Given the description of an element on the screen output the (x, y) to click on. 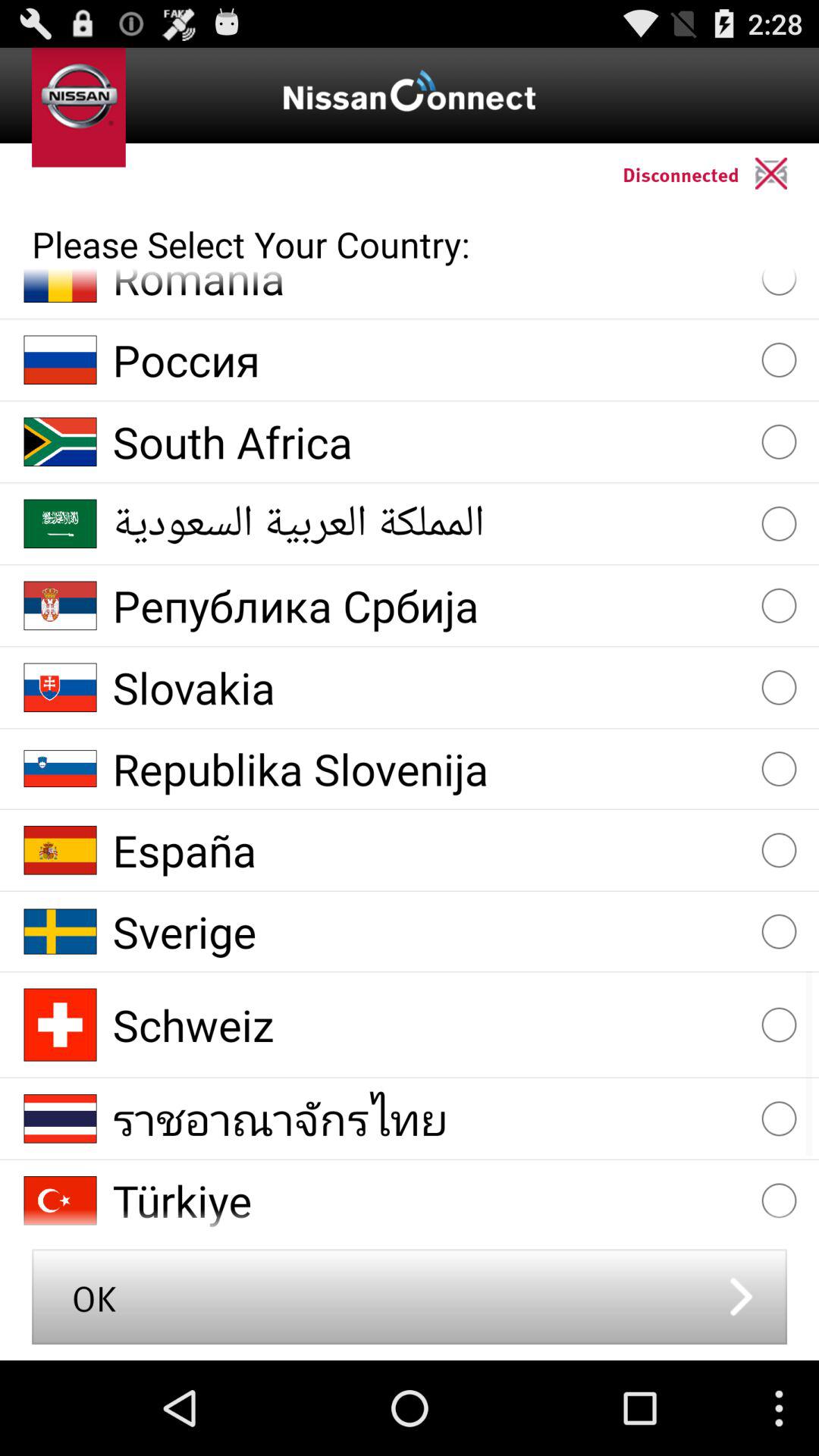
click to connect option (787, 173)
